Given the description of an element on the screen output the (x, y) to click on. 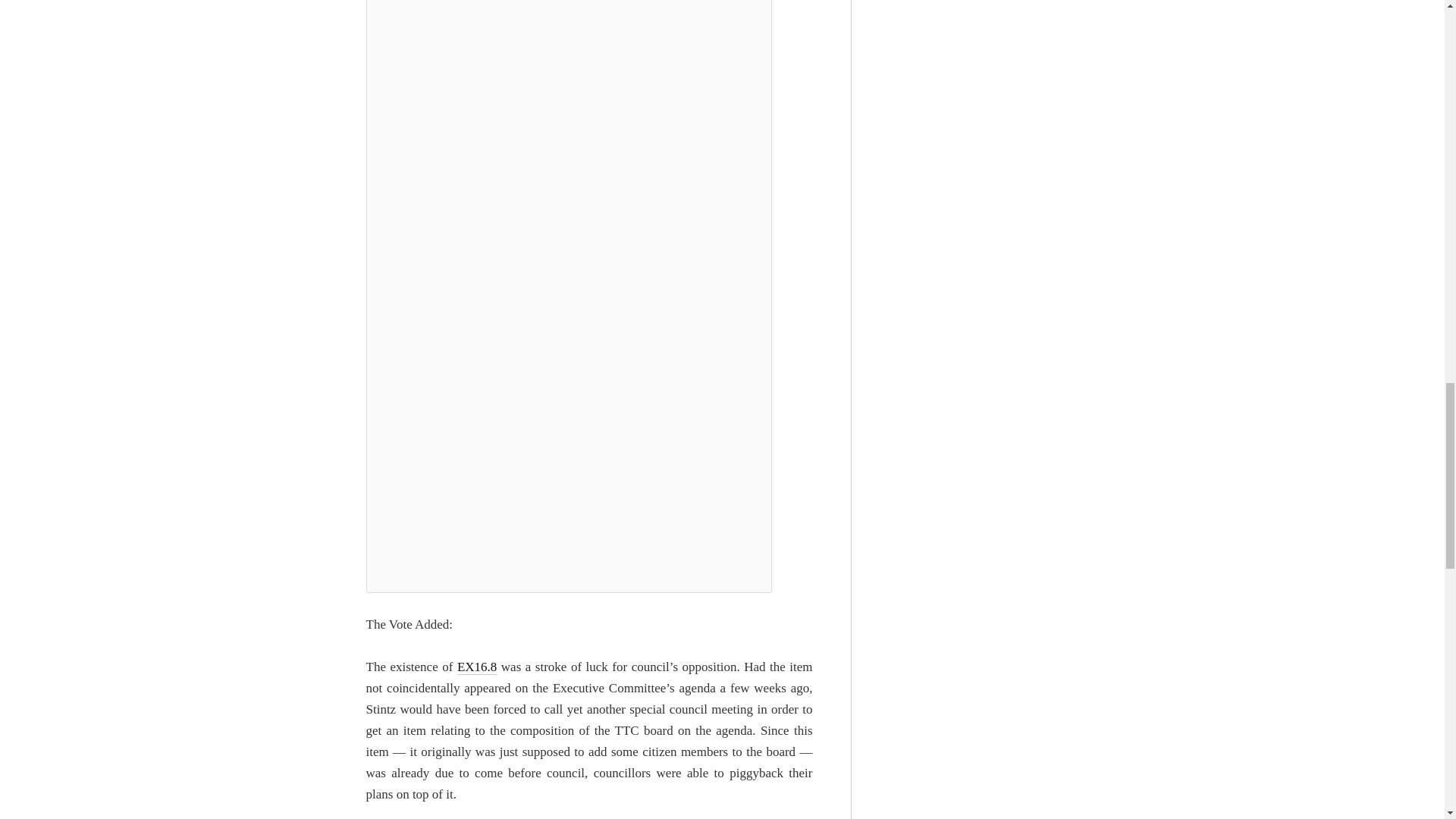
EX16.8 (476, 667)
